Given the description of an element on the screen output the (x, y) to click on. 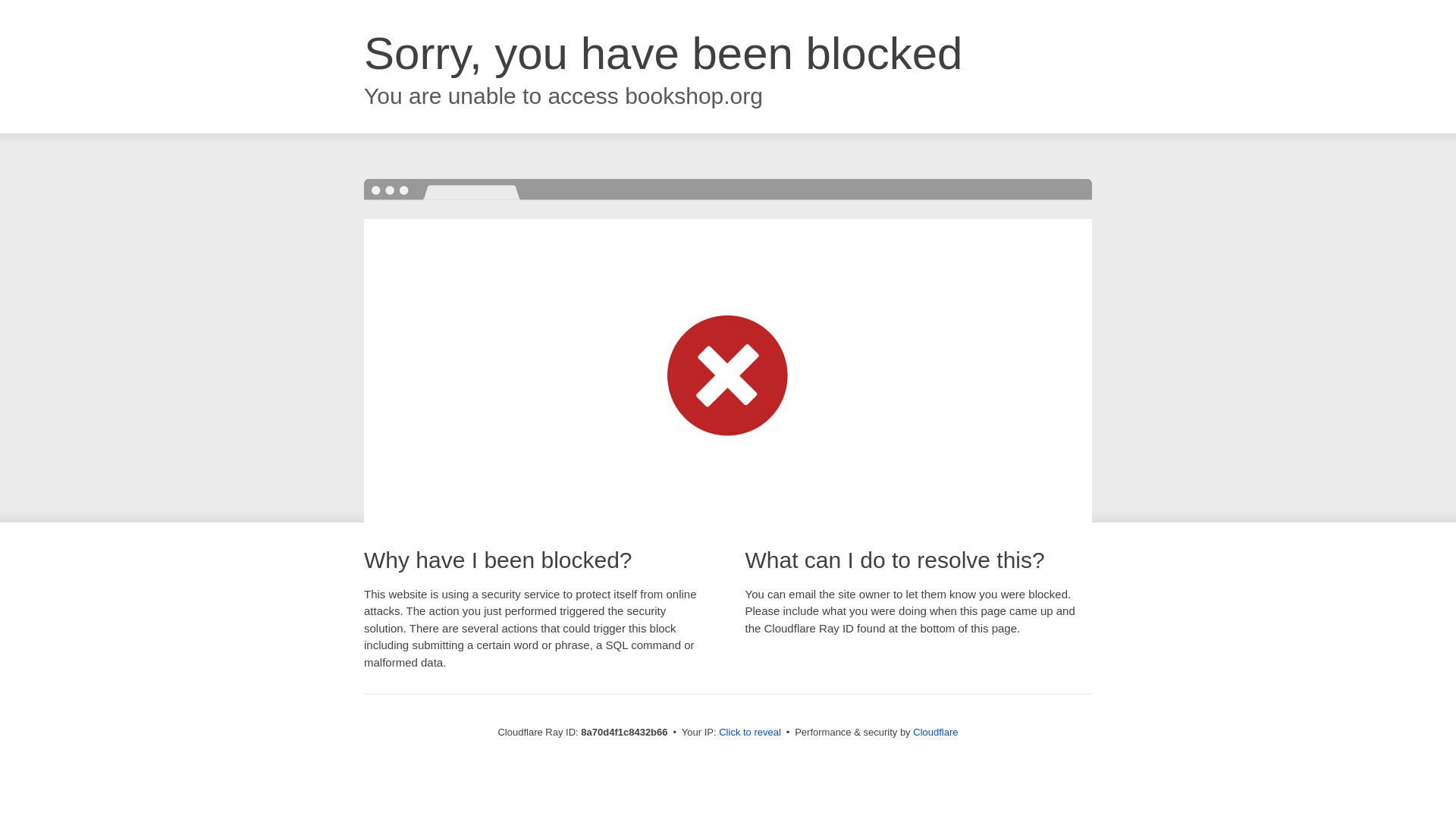
Cloudflare (935, 731)
Click to reveal (749, 732)
